Given the description of an element on the screen output the (x, y) to click on. 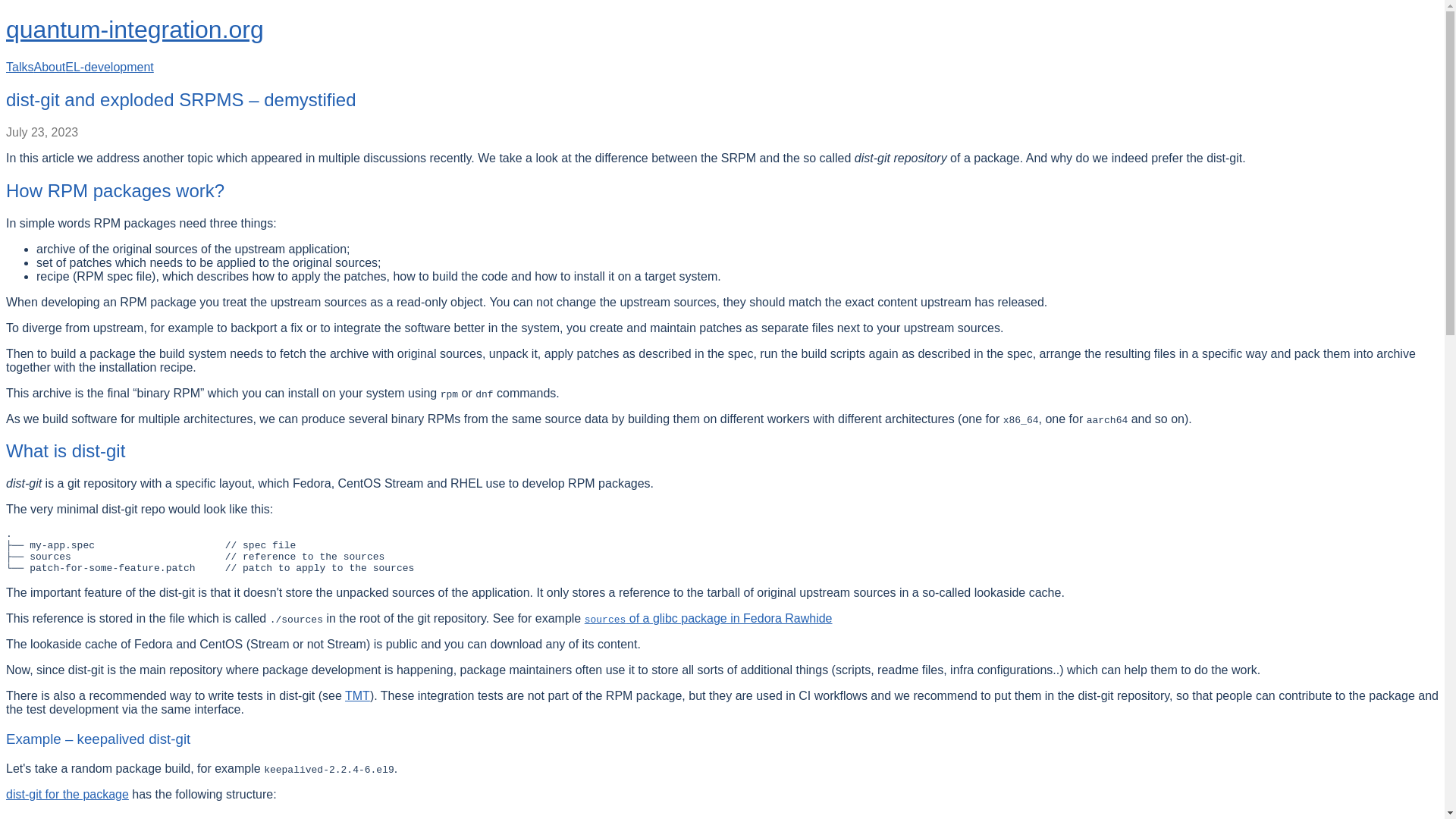
EL-development (109, 66)
quantum-integration.org (134, 29)
TMT (357, 695)
sources of a glibc package in Fedora Rawhide (708, 617)
About (49, 66)
Talks (19, 66)
dist-git for the package (67, 793)
